Given the description of an element on the screen output the (x, y) to click on. 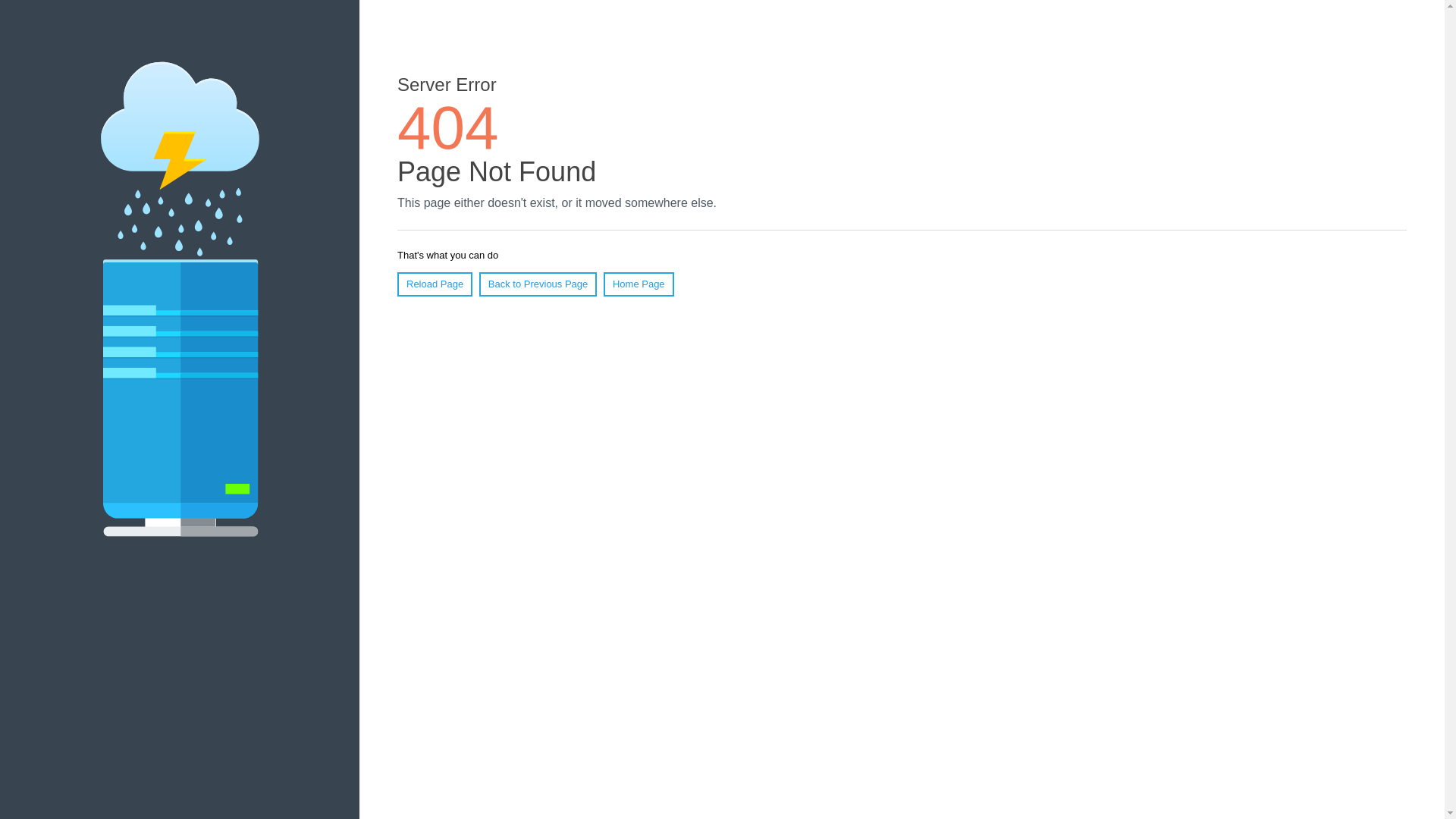
Reload Page Element type: text (434, 284)
Home Page Element type: text (638, 284)
Back to Previous Page Element type: text (538, 284)
